Given the description of an element on the screen output the (x, y) to click on. 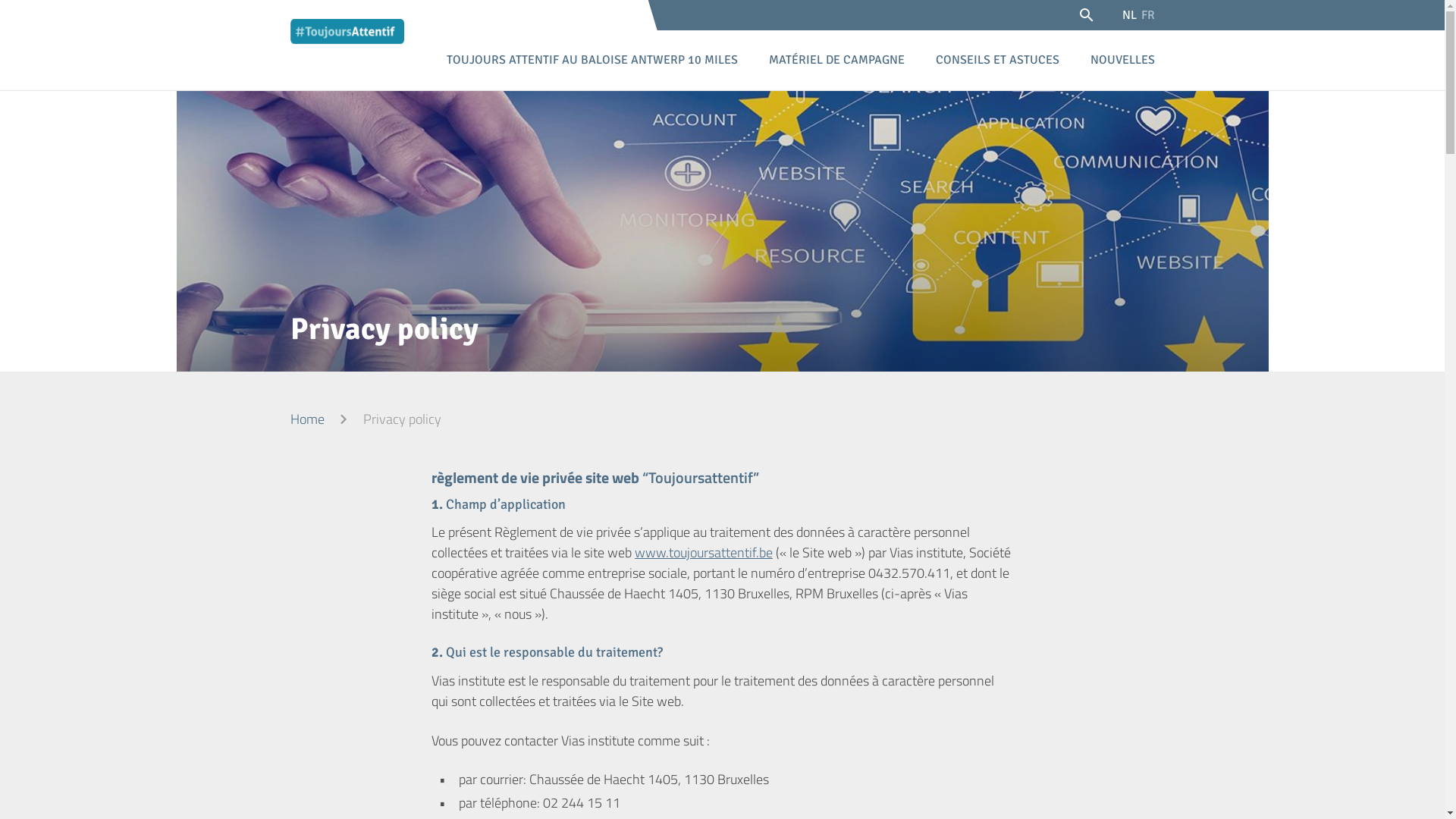
TOUJOURS ATTENTIF AU BALOISE ANTWERP 10 MILES Element type: text (591, 57)
CONSEILS ET ASTUCES Element type: text (996, 57)
FR Element type: text (1148, 15)
Home Element type: text (306, 418)
NOUVELLES Element type: text (1121, 57)
Search Element type: hover (1092, 15)
www.toujoursattentif.be Element type: text (703, 552)
NL Element type: text (1128, 15)
